Given the description of an element on the screen output the (x, y) to click on. 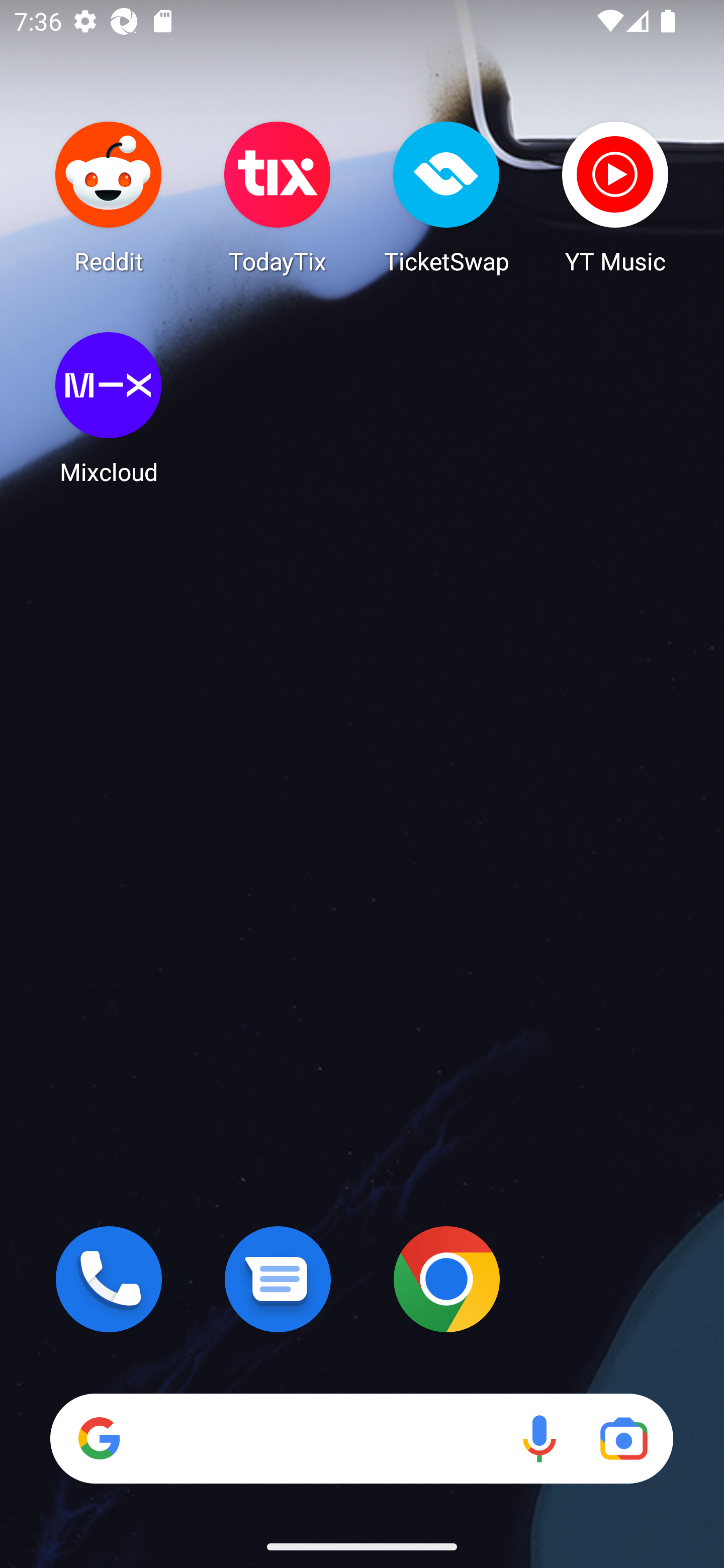
Reddit (108, 196)
TodayTix (277, 196)
TicketSwap (445, 196)
YT Music (615, 196)
Mixcloud (108, 407)
Phone (108, 1279)
Messages (277, 1279)
Chrome (446, 1279)
Voice search (539, 1438)
Google Lens (623, 1438)
